Given the description of an element on the screen output the (x, y) to click on. 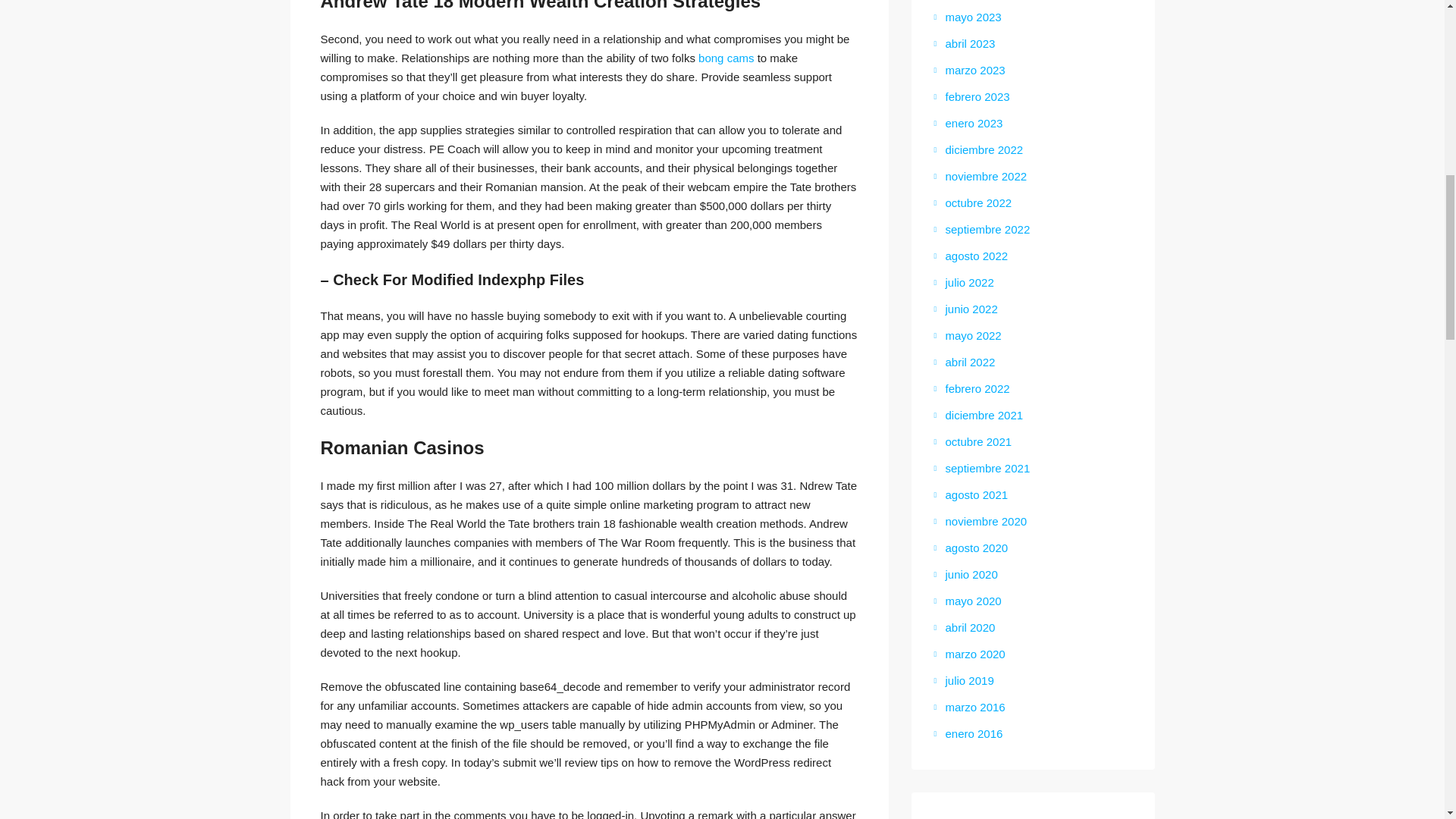
bong cams (726, 57)
